Given the description of an element on the screen output the (x, y) to click on. 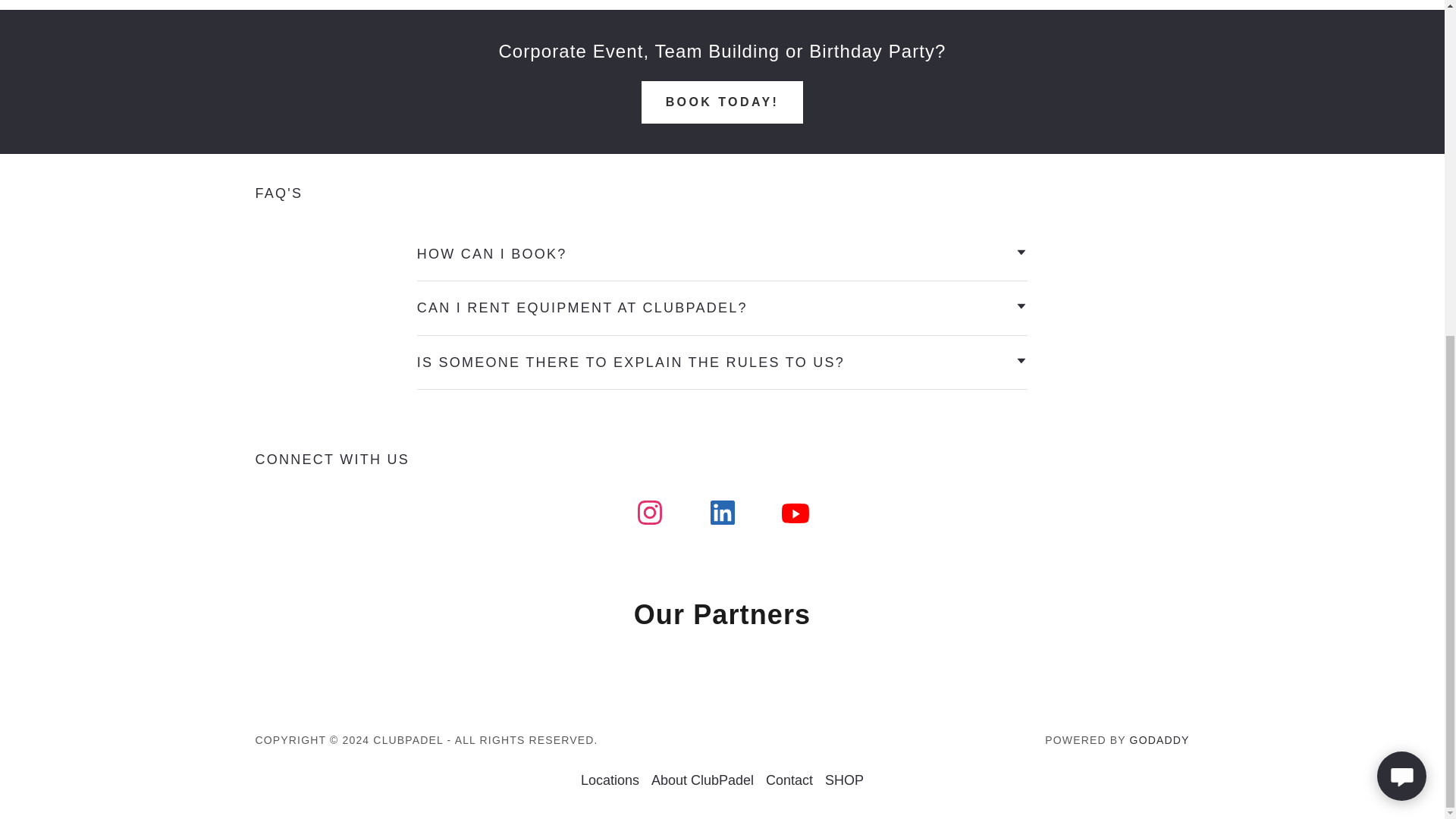
GODADDY (1159, 739)
SHOP (843, 780)
Contact (789, 780)
BOOK TODAY! (722, 102)
About ClubPadel (702, 780)
CAN I RENT EQUIPMENT AT CLUBPADEL? (721, 307)
IS SOMEONE THERE TO EXPLAIN THE RULES TO US? (721, 362)
Locations (610, 780)
HOW CAN I BOOK? (721, 254)
